Given the description of an element on the screen output the (x, y) to click on. 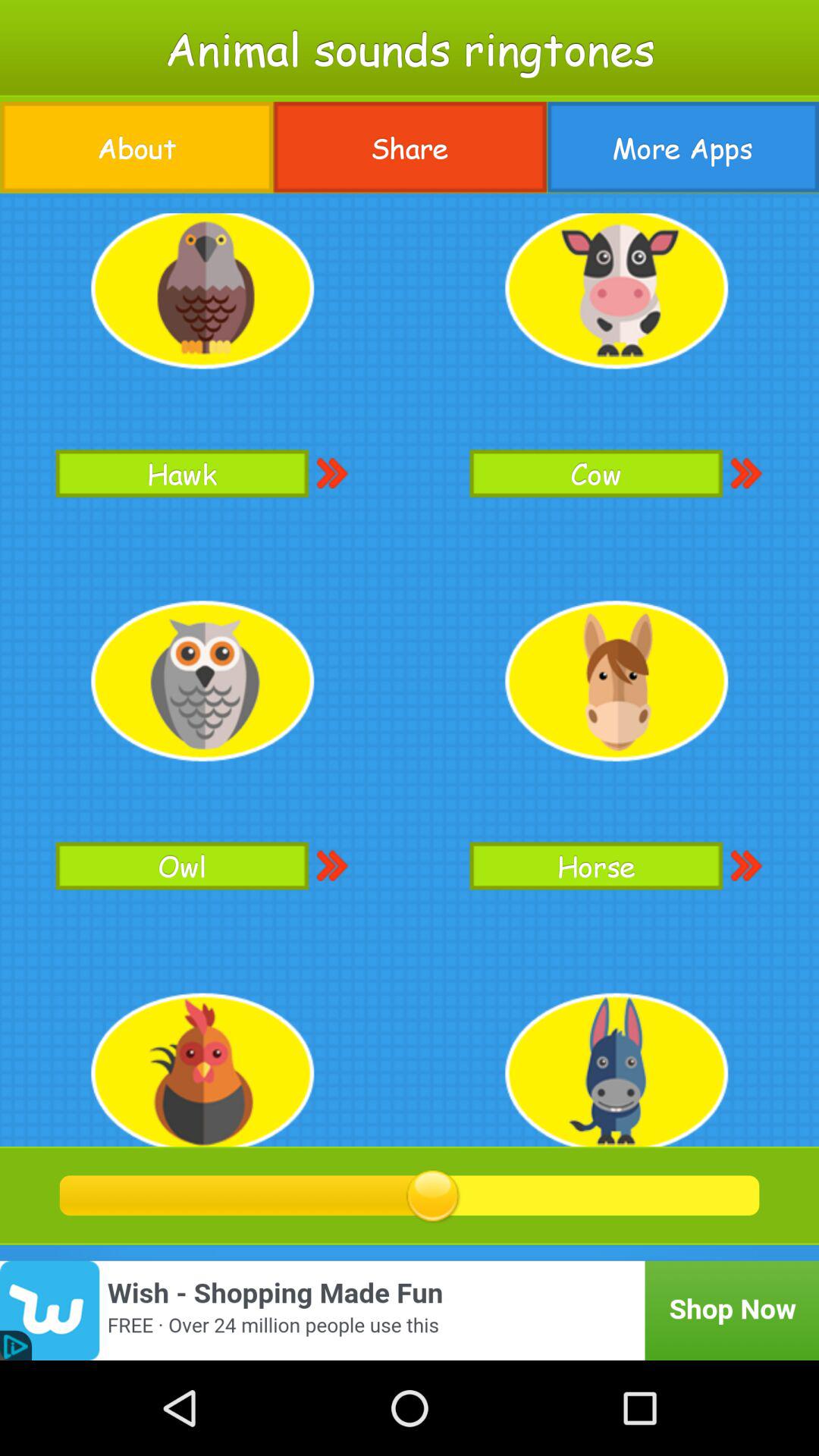
turn off button to the left of the more apps (409, 147)
